Given the description of an element on the screen output the (x, y) to click on. 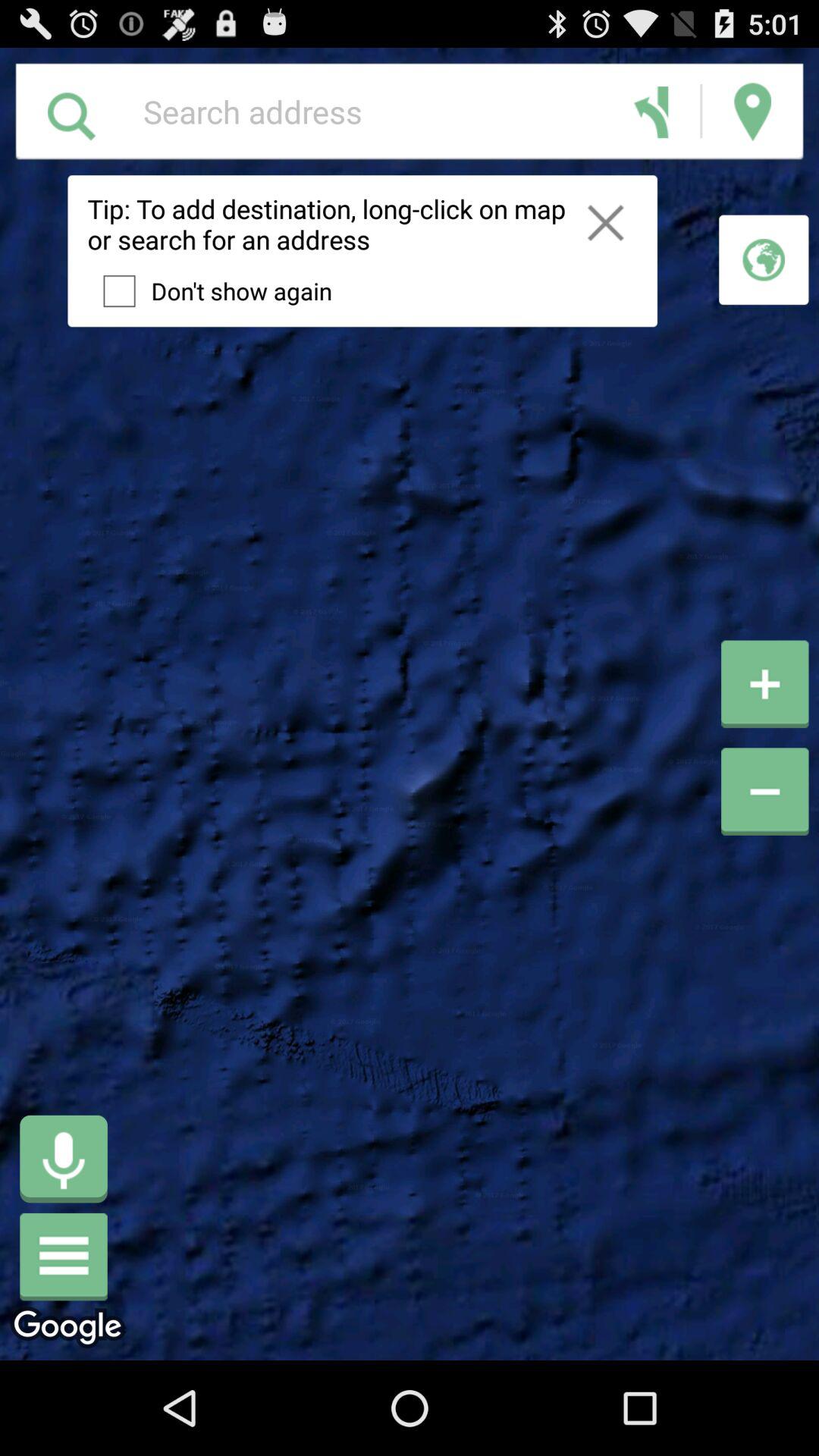
launch the don t show (209, 291)
